Given the description of an element on the screen output the (x, y) to click on. 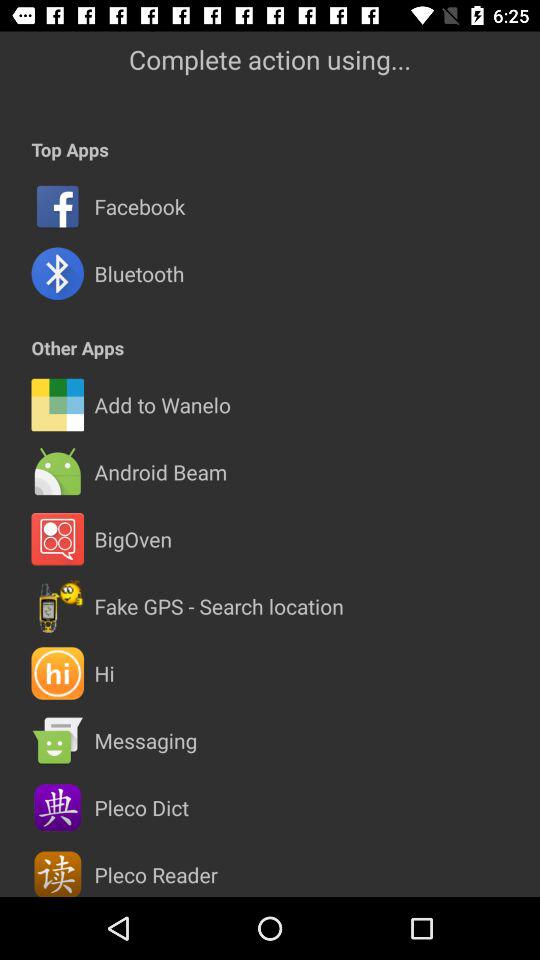
launch bigoven item (133, 539)
